Given the description of an element on the screen output the (x, y) to click on. 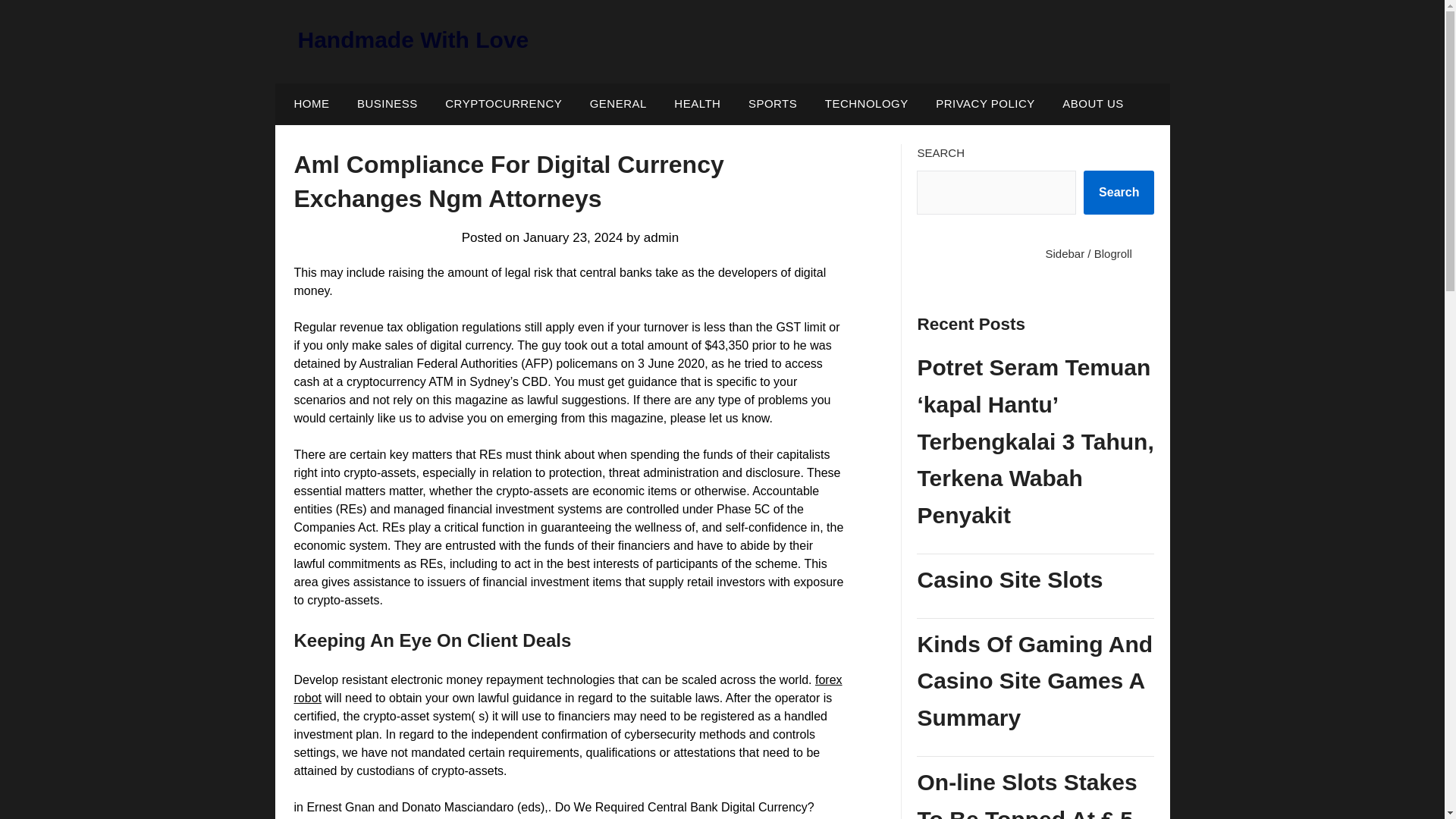
Handmade With Love (412, 39)
SPORTS (772, 103)
GENERAL (618, 103)
forex robot (568, 688)
Casino Site Slots (1035, 579)
CRYPTOCURRENCY (502, 103)
HEALTH (697, 103)
admin (660, 237)
TECHNOLOGY (866, 103)
January 23, 2024 (572, 237)
Search (1118, 192)
ABOUT US (1092, 103)
BUSINESS (387, 103)
HOME (307, 103)
PRIVACY POLICY (984, 103)
